Given the description of an element on the screen output the (x, y) to click on. 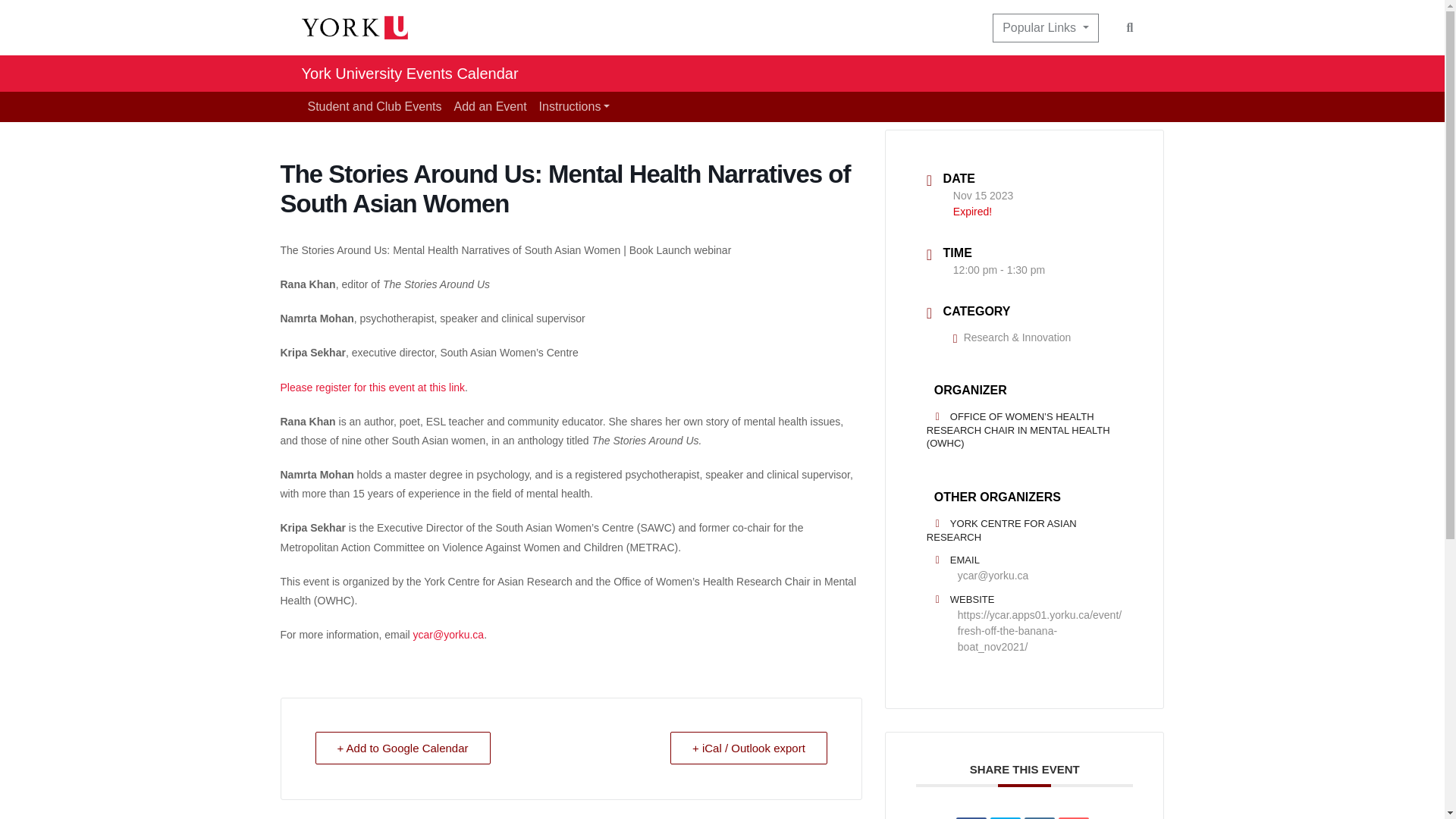
Linkedin (1039, 818)
York University Events Calendar (409, 73)
Share on Facebook (971, 818)
Add an Event (490, 106)
Tweet (1005, 818)
Instructions (573, 106)
Please register for this event at this link (373, 387)
Popular Links (1044, 27)
Student and Club Events (374, 106)
Search (1129, 27)
